Given the description of an element on the screen output the (x, y) to click on. 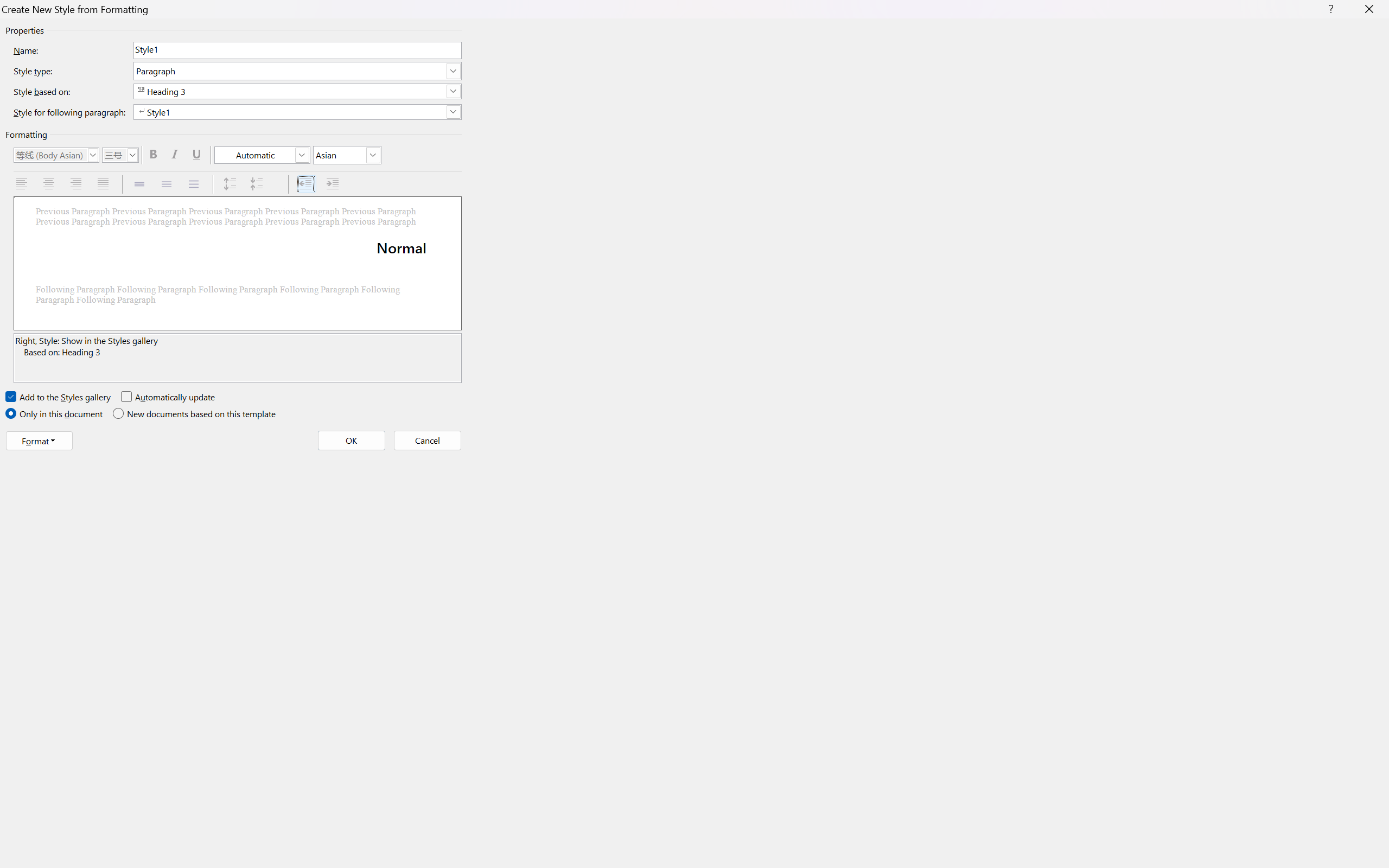
Single Spacing (140, 183)
RichEdit Control (297, 50)
MSO Generic Control Container (55, 155)
Double Spacing (195, 183)
Increase Paragraph Spacing (231, 183)
Name: (297, 50)
Formatting script (346, 154)
Format (39, 440)
Center (49, 183)
Font Color (Automatic) (261, 155)
Justify (103, 183)
Style properties: (237, 357)
